Given the description of an element on the screen output the (x, y) to click on. 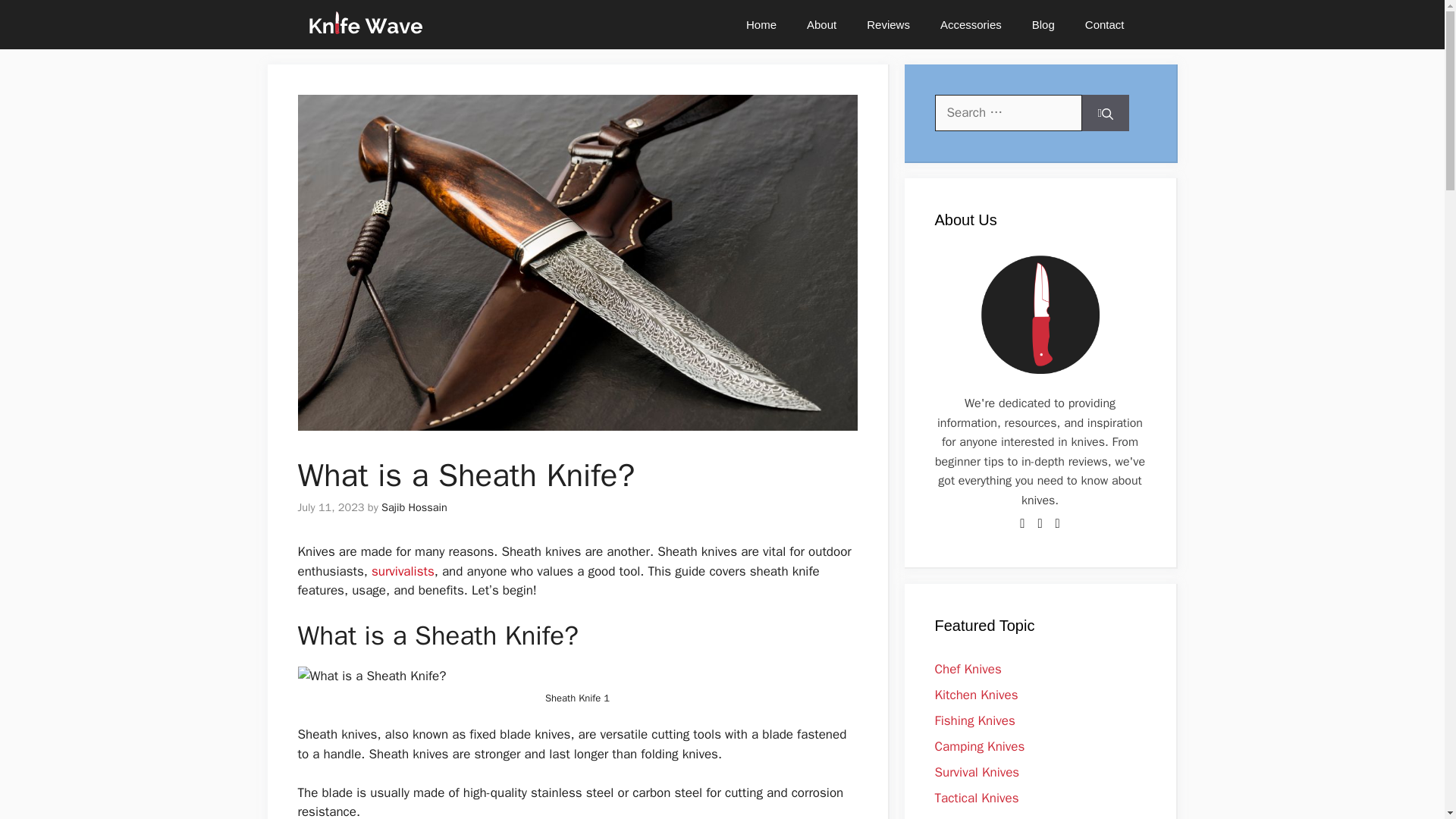
View all posts by Sajib Hossain (413, 507)
Accessories (970, 23)
Blog (1043, 23)
Tactical Knives (975, 797)
About (821, 23)
survivalists (402, 571)
Survival Knives (976, 772)
Camping Knives (979, 746)
Hunting Knives (975, 817)
Contact (1105, 23)
Home (761, 23)
Fishing Knives (974, 720)
Chef Knives (967, 668)
Sajib Hossain (413, 507)
Knife Wave (364, 24)
